Given the description of an element on the screen output the (x, y) to click on. 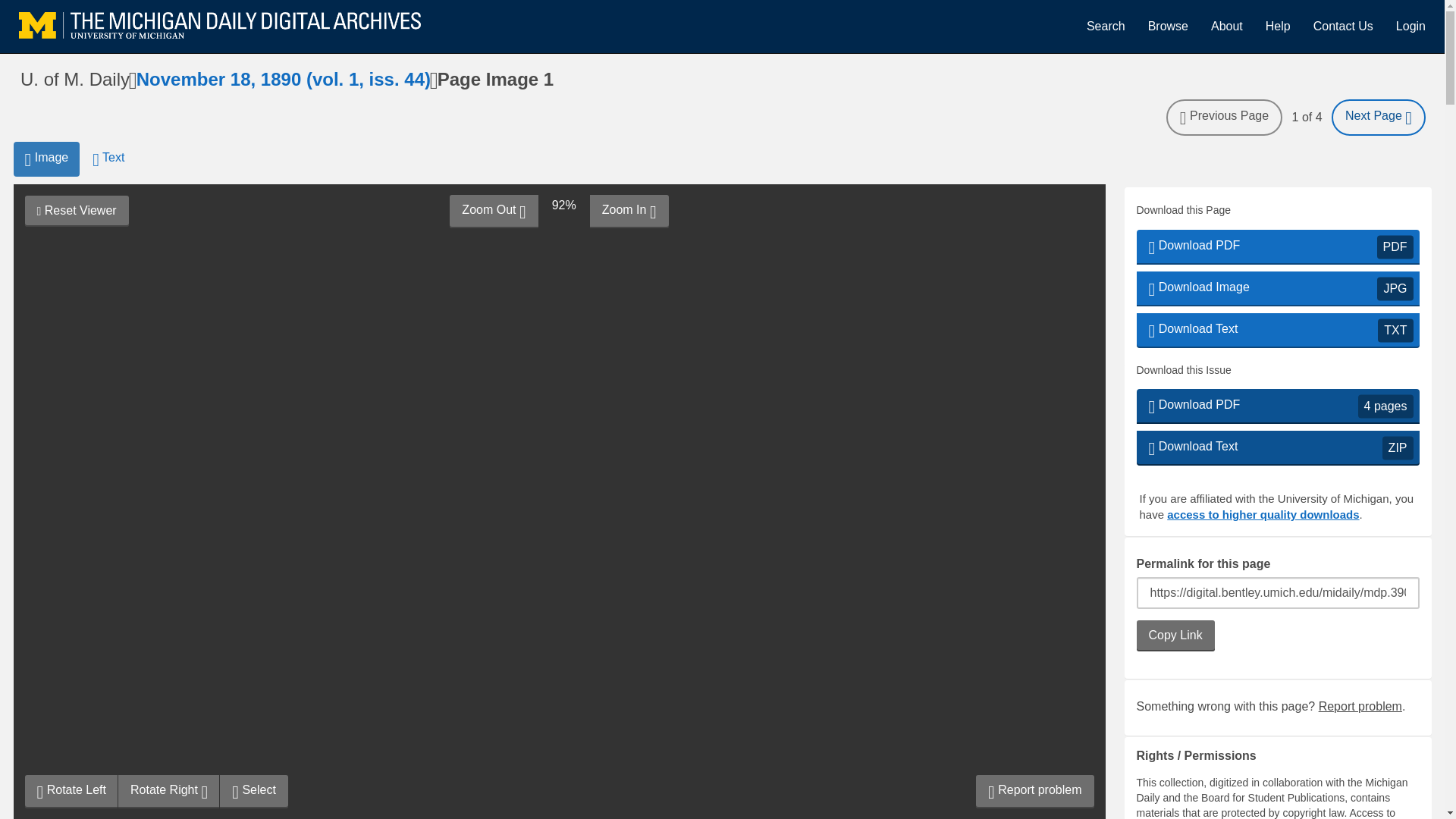
Rotate Left (70, 791)
Zoom In (628, 211)
Text (108, 158)
Zoom in (628, 211)
Report problem (1360, 706)
Login (1410, 26)
Contact Us (1276, 448)
Search (1342, 26)
About (1106, 26)
